Given the description of an element on the screen output the (x, y) to click on. 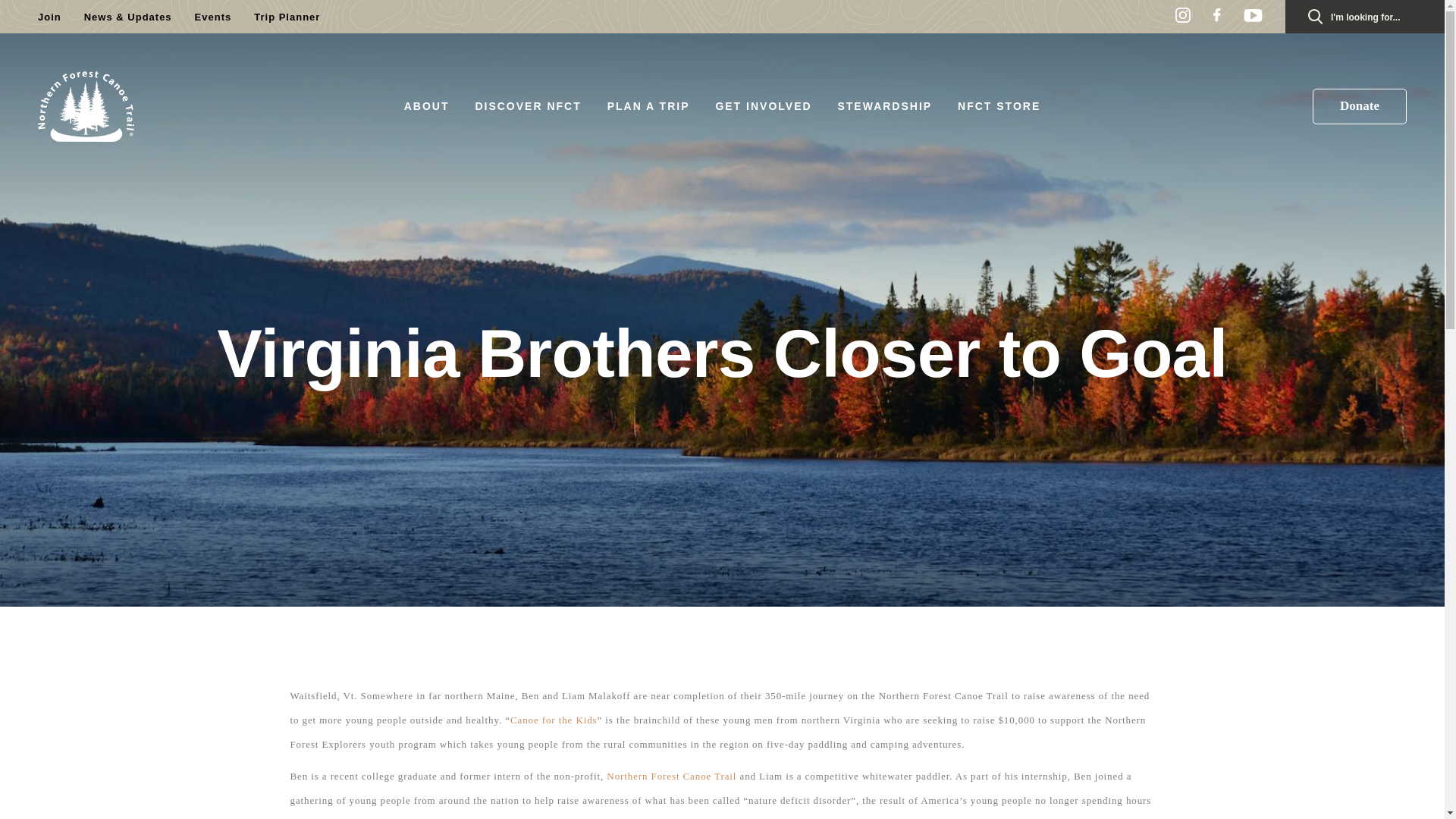
GET INVOLVED (762, 105)
DISCOVER NFCT (527, 105)
Plan a Trip (648, 105)
PLAN A TRIP (648, 105)
Join (49, 16)
Discover NFCT (527, 105)
Events (213, 16)
About (427, 105)
Trip Planner (286, 16)
ABOUT (427, 105)
